Given the description of an element on the screen output the (x, y) to click on. 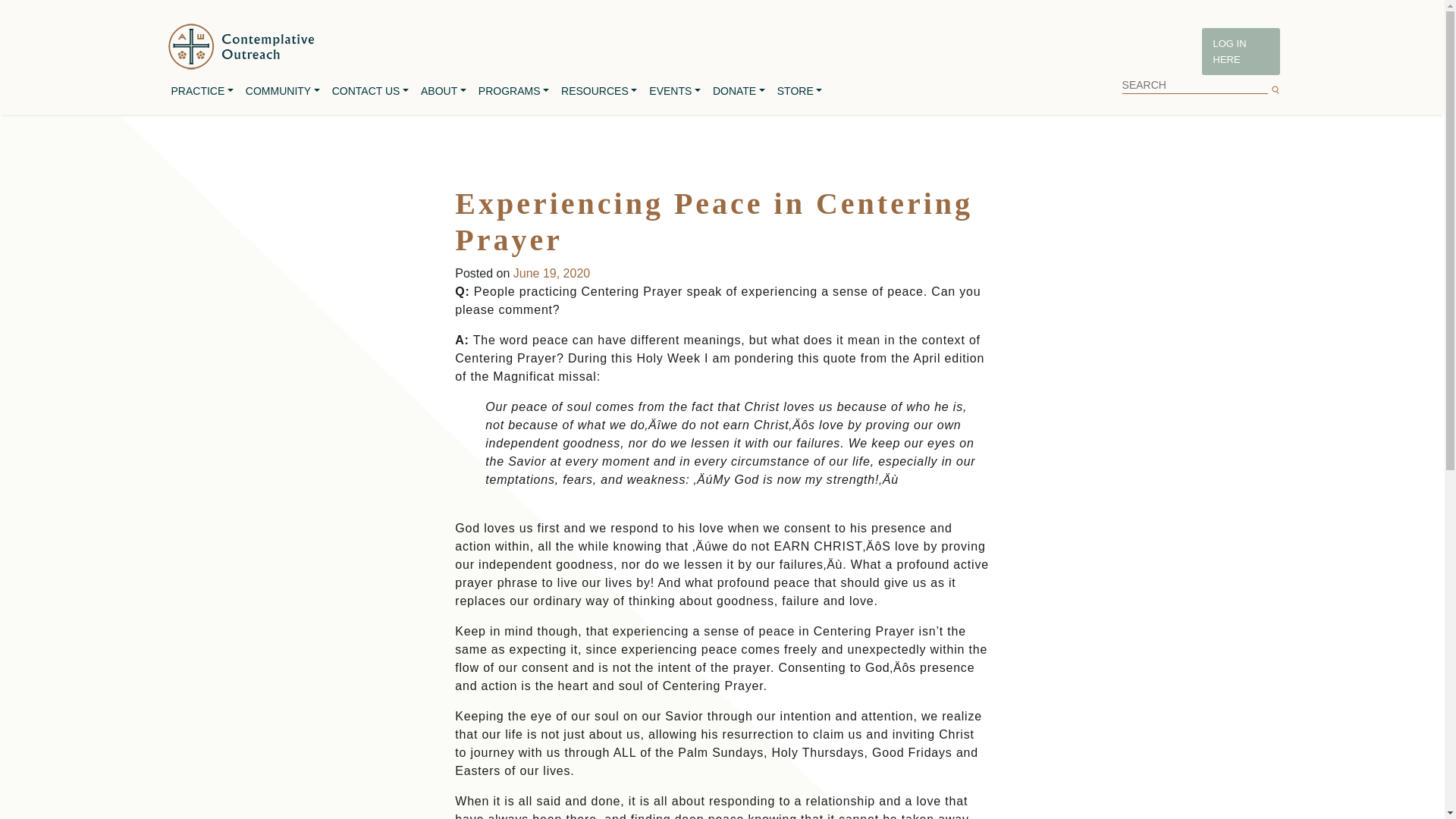
PRACTICE (202, 90)
PROGRAMS (512, 90)
Community (283, 90)
CONTACT US (370, 90)
COMMUNITY (283, 90)
Contact Us (370, 90)
ABOUT (442, 90)
Practice (202, 90)
